Given the description of an element on the screen output the (x, y) to click on. 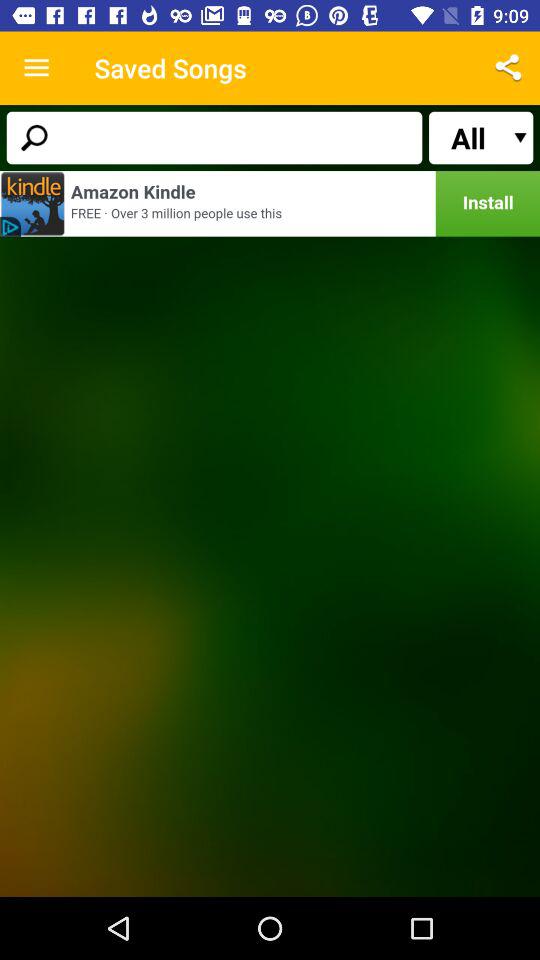
search option (214, 137)
